Given the description of an element on the screen output the (x, y) to click on. 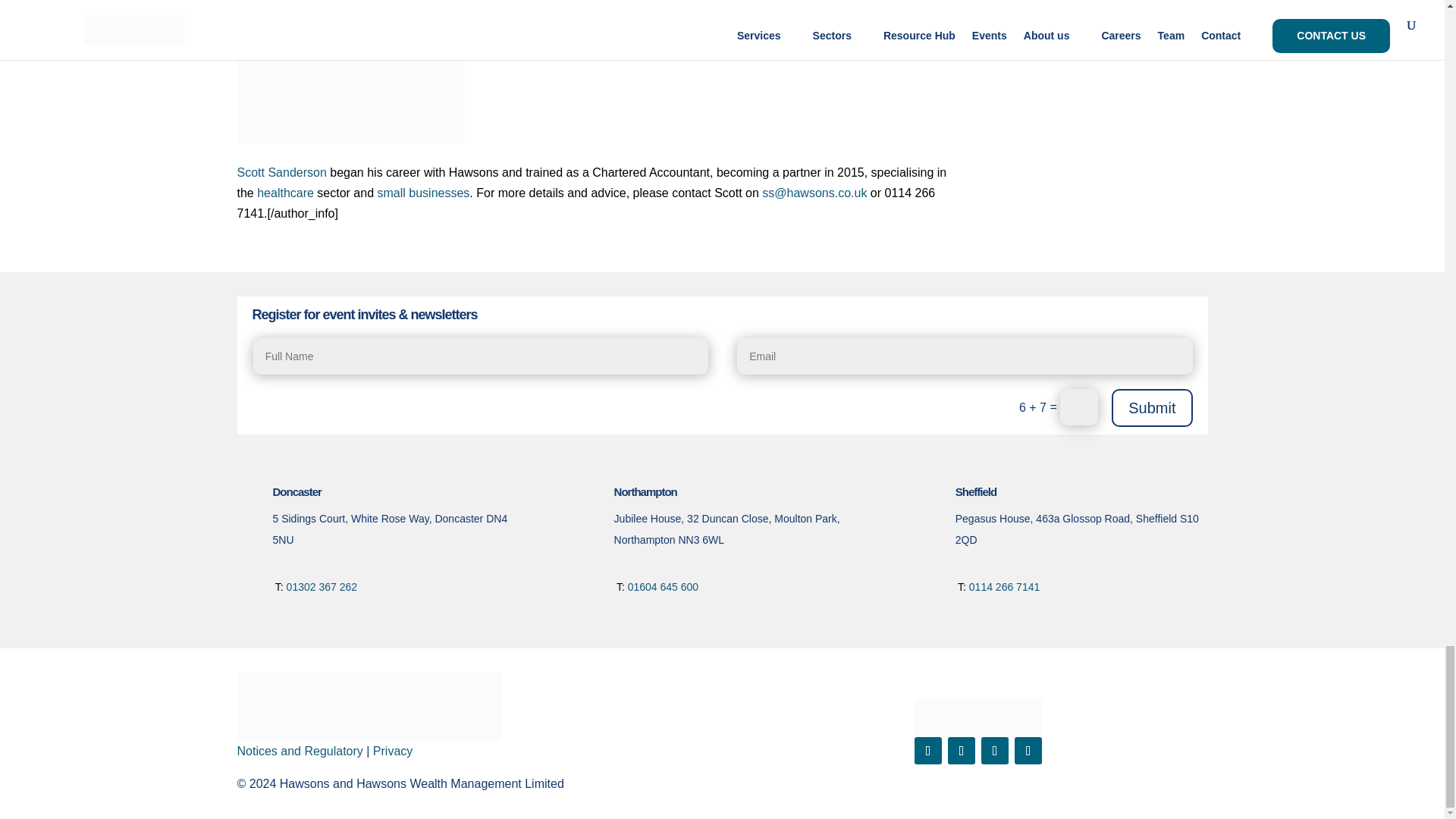
Follow on LinkedIn (995, 750)
Follow on X (961, 750)
Follow on Facebook (928, 750)
